Given the description of an element on the screen output the (x, y) to click on. 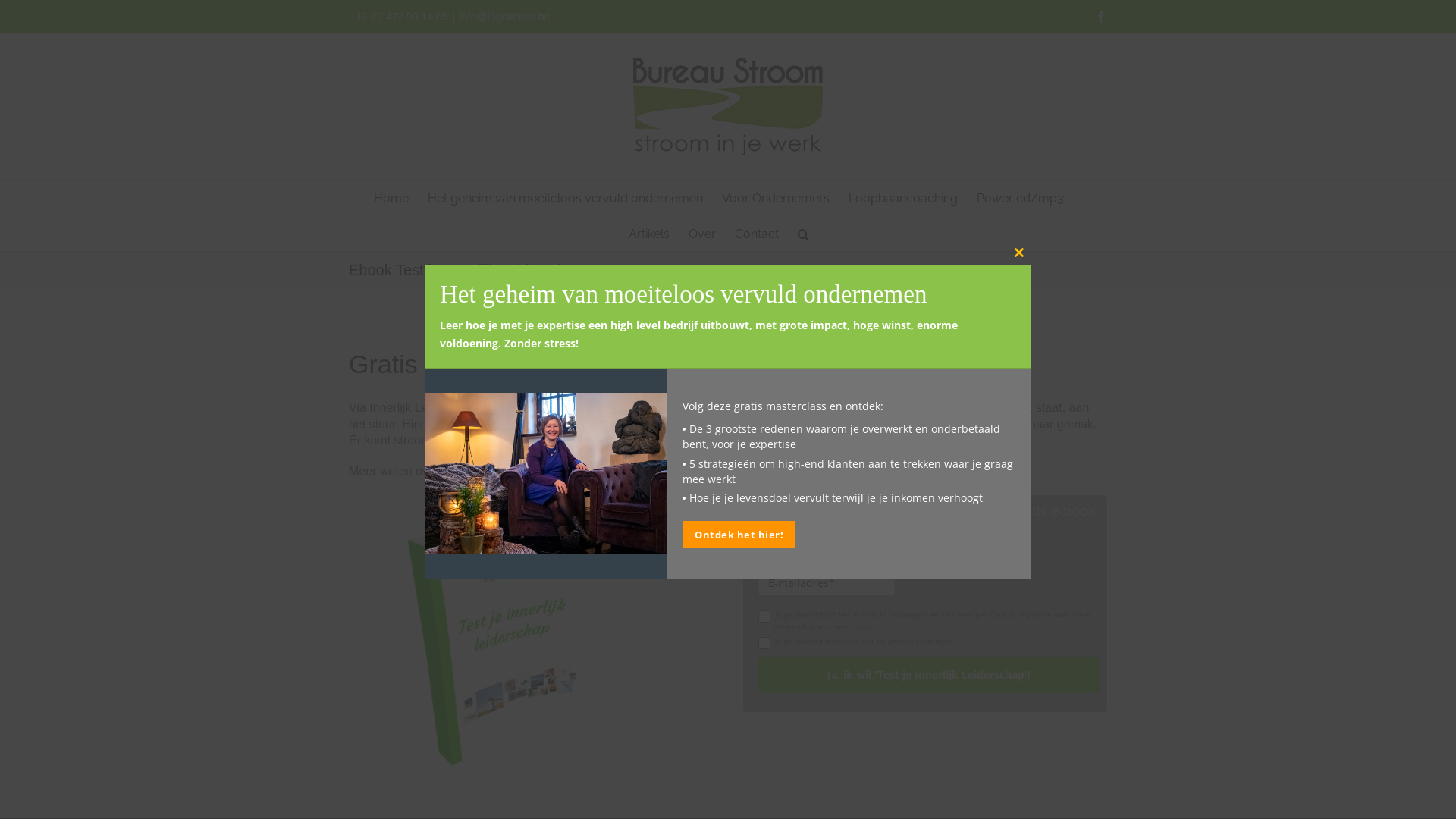
info@ingeketels.be Element type: text (504, 16)
Ja, ik wil 'Test je Innerlijk Leiderschap'! Element type: text (928, 674)
Artikels Element type: text (647, 233)
+32 (0) 472 99 14 05 Element type: text (397, 16)
Facebook Element type: text (1101, 16)
Loopbaancoaching Element type: text (902, 197)
Power cd/mp3 Element type: text (1019, 197)
Close this module Element type: text (1019, 252)
Over Element type: text (701, 233)
de privacy statement Element type: text (914, 639)
Contact Element type: text (756, 233)
Het geheim van moeiteloos vervuld ondernemen Element type: text (564, 197)
Zoeken Element type: hover (803, 233)
ebook Element type: hover (500, 641)
Ontdek het hier! Element type: text (738, 534)
Home Element type: text (390, 197)
Voor Ondernemers Element type: text (775, 197)
